Given the description of an element on the screen output the (x, y) to click on. 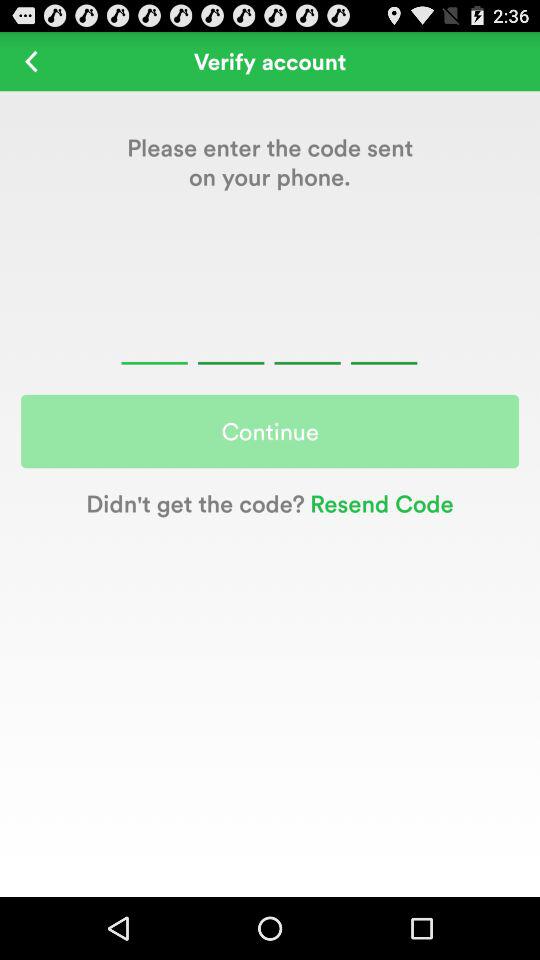
enter code (269, 339)
